Given the description of an element on the screen output the (x, y) to click on. 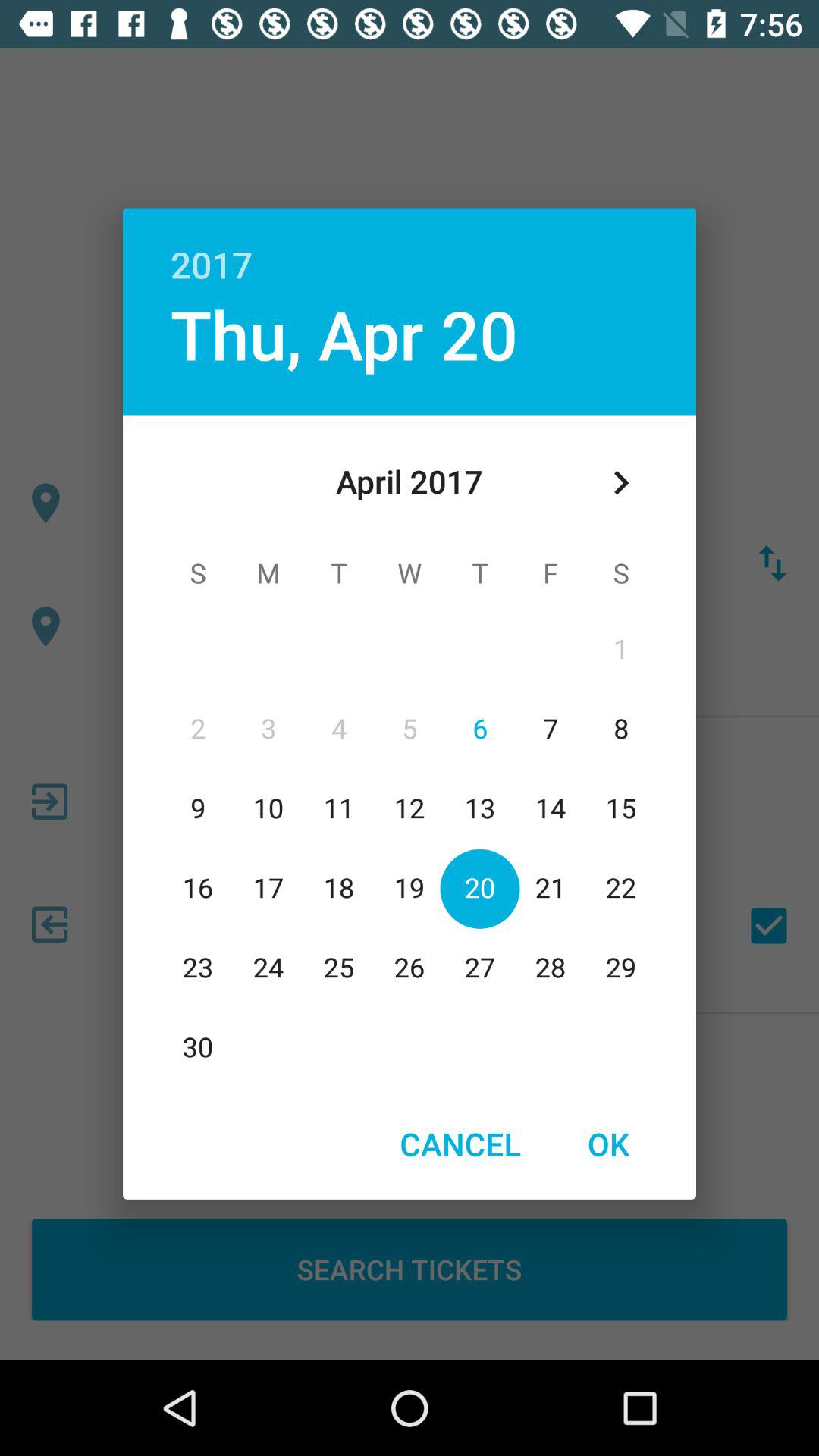
choose icon below the 2017 item (620, 482)
